Given the description of an element on the screen output the (x, y) to click on. 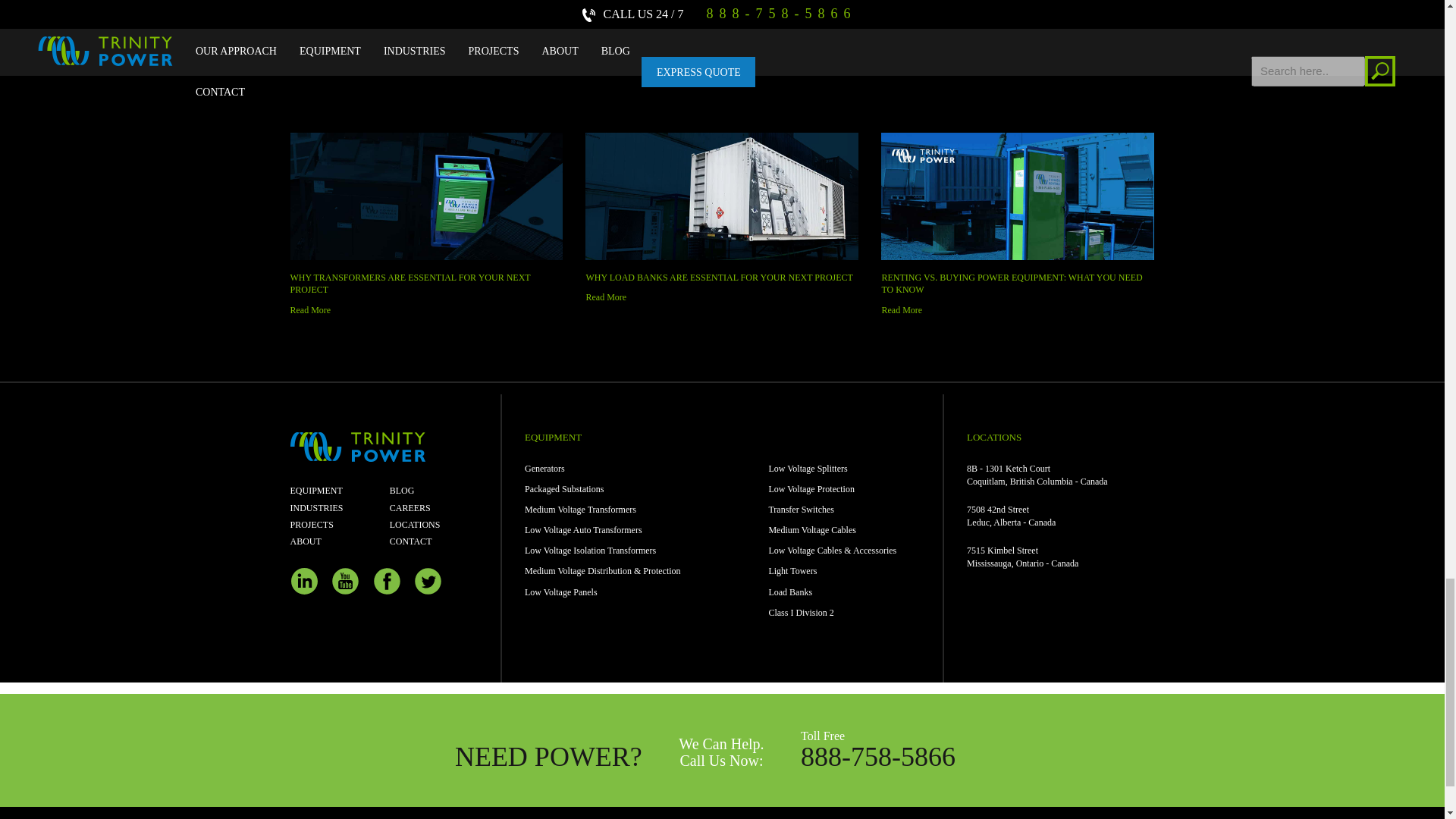
Youtube (345, 581)
LinkedIn (303, 581)
Facebook (386, 581)
Youtube (345, 580)
Facebook (386, 580)
Twitter (427, 581)
LinkedIn (303, 580)
Twitter (427, 580)
